Given the description of an element on the screen output the (x, y) to click on. 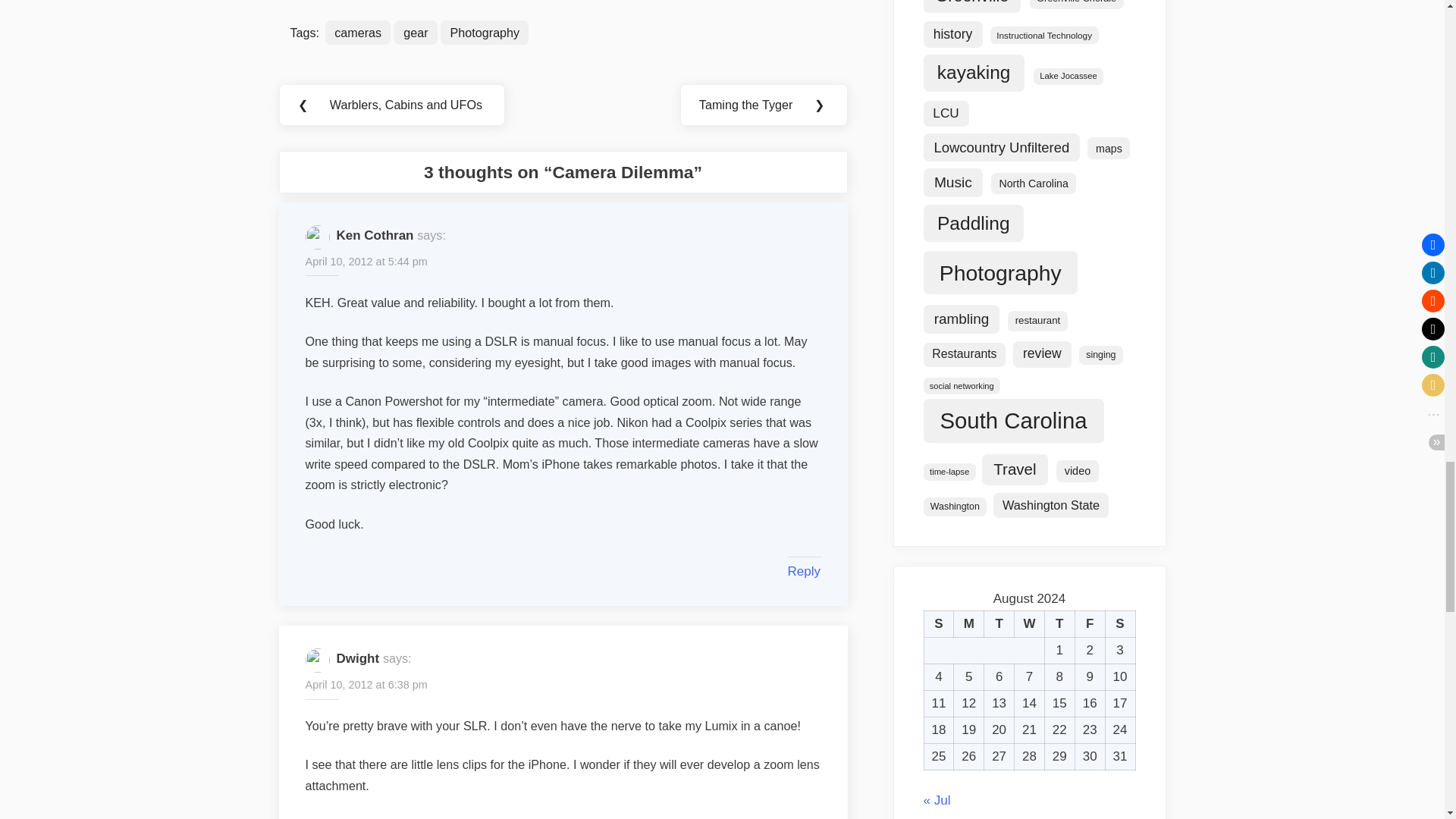
April 10, 2012 at 6:38 pm (365, 685)
cameras (357, 32)
Photography (484, 32)
Saturday (1120, 624)
April 10, 2012 at 5:44 pm (365, 261)
Thursday (1058, 624)
Wednesday (1029, 624)
Sunday (938, 624)
Reply (803, 571)
gear (416, 32)
Tuesday (999, 624)
Monday (968, 624)
Friday (1089, 624)
